Given the description of an element on the screen output the (x, y) to click on. 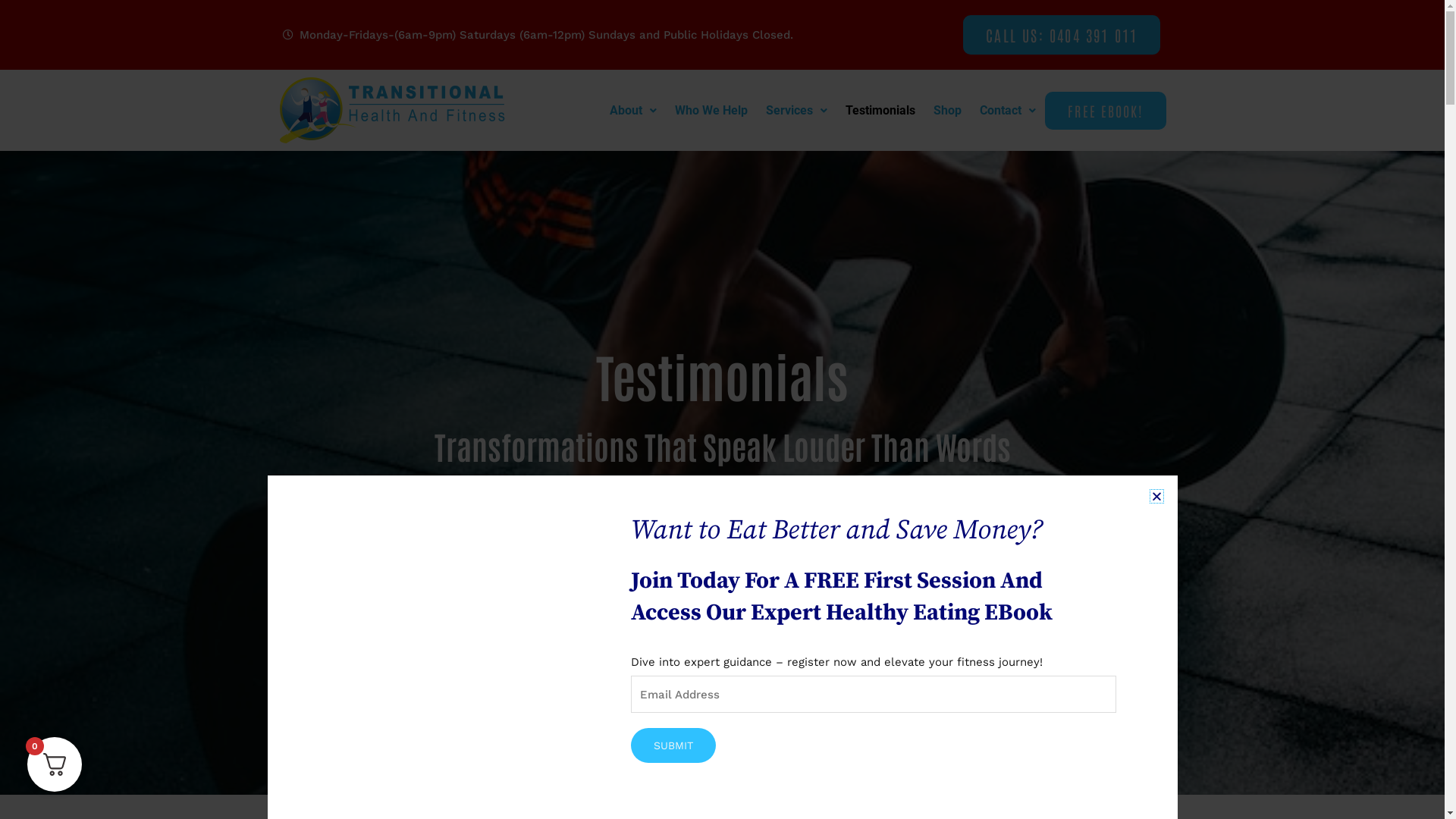
FREE EBOOK! Element type: text (1105, 109)
Who We Help Element type: text (710, 110)
Contact Element type: text (1007, 110)
CALL US: 0404 391 011 Element type: text (1061, 34)
BOOK YOUR FIRST SESSION FREE NOW Element type: text (722, 532)
Testimonials Element type: text (880, 110)
Services Element type: text (796, 110)
Shop Element type: text (947, 110)
OR CALL 0404 391 011 Element type: text (721, 600)
SUBMIT Element type: text (672, 745)
About Element type: text (632, 110)
